Given the description of an element on the screen output the (x, y) to click on. 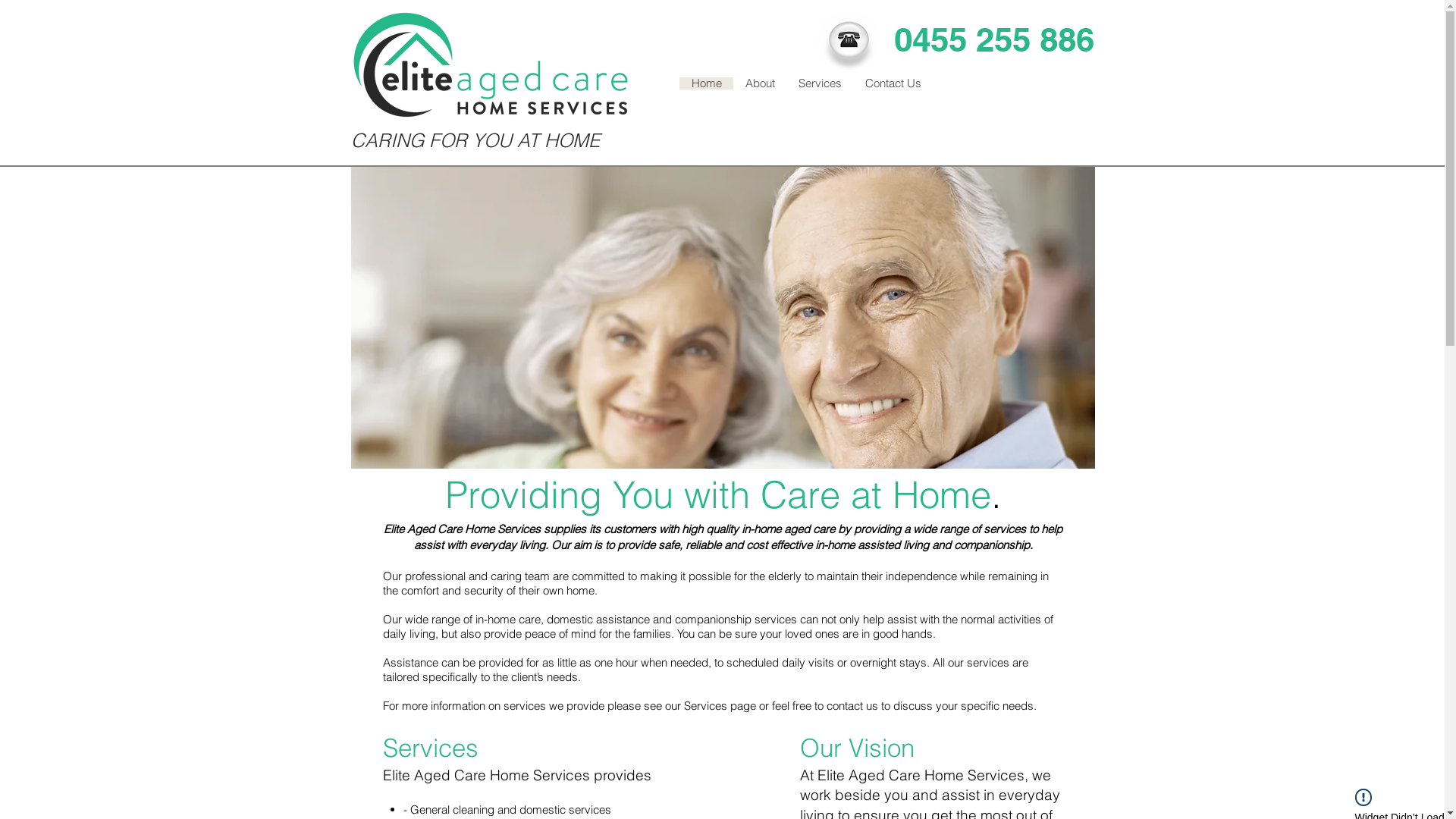
About Element type: text (759, 83)
Services Element type: text (819, 83)
Home Element type: text (706, 83)
WEB-72DPI-RGB-TRANSPARENT_elite-ac-logo 3.png Element type: hover (489, 65)
Site Search Element type: hover (1012, 153)
Contact Us Element type: text (892, 83)
